Given the description of an element on the screen output the (x, y) to click on. 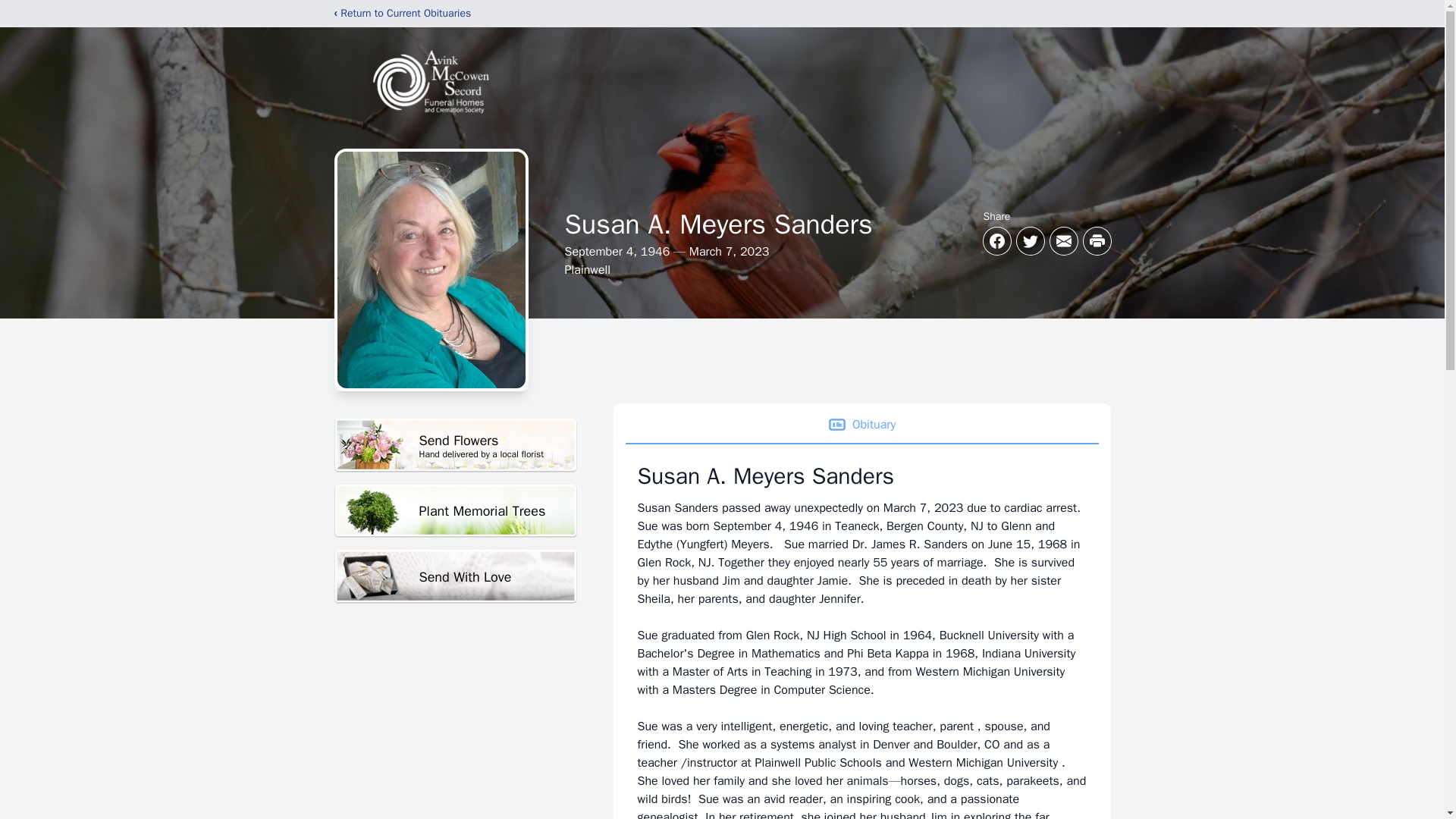
Obituary (860, 425)
Plant Memorial Trees (454, 445)
Send With Love (454, 511)
